Given the description of an element on the screen output the (x, y) to click on. 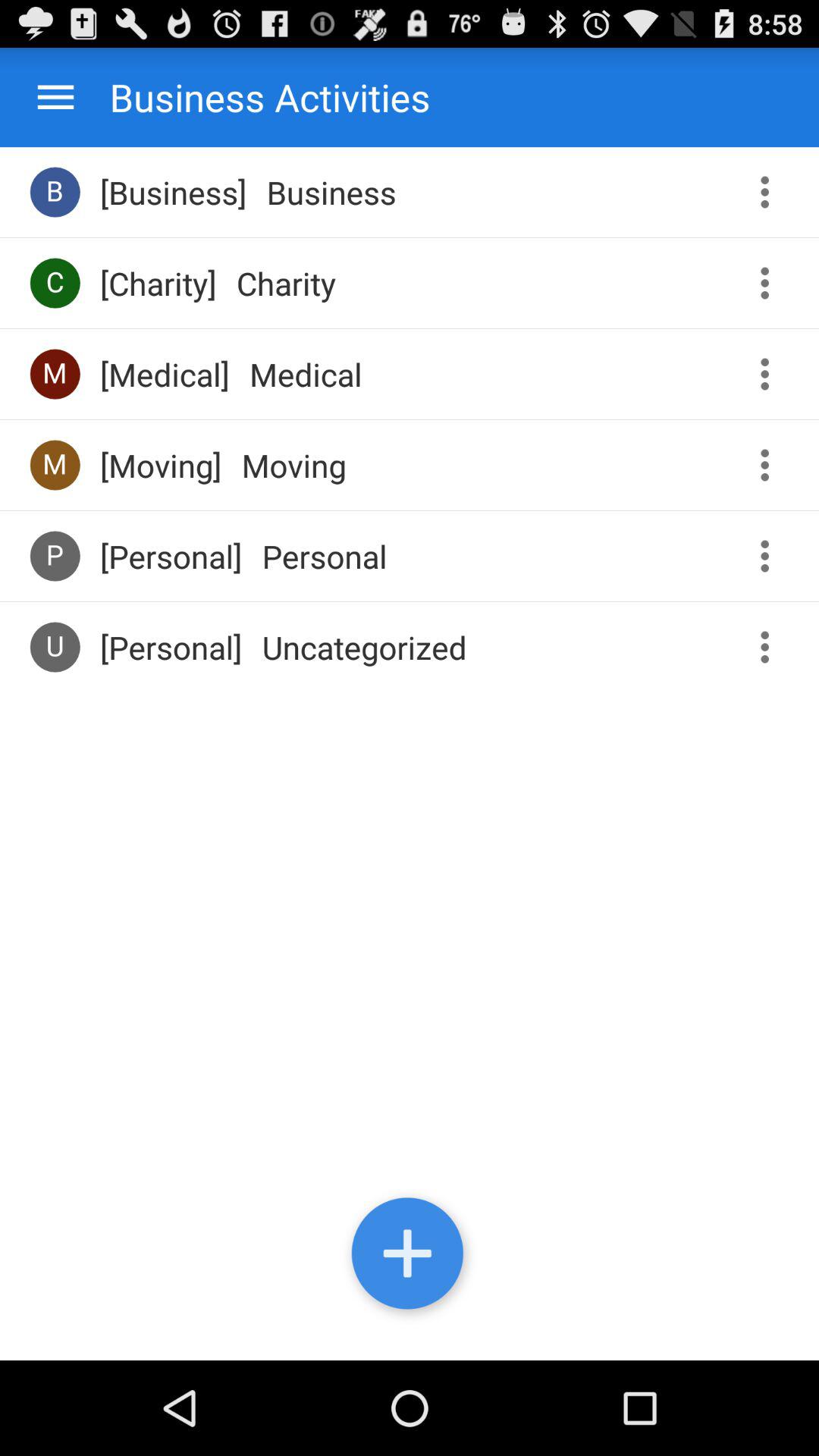
view options (770, 556)
